Given the description of an element on the screen output the (x, y) to click on. 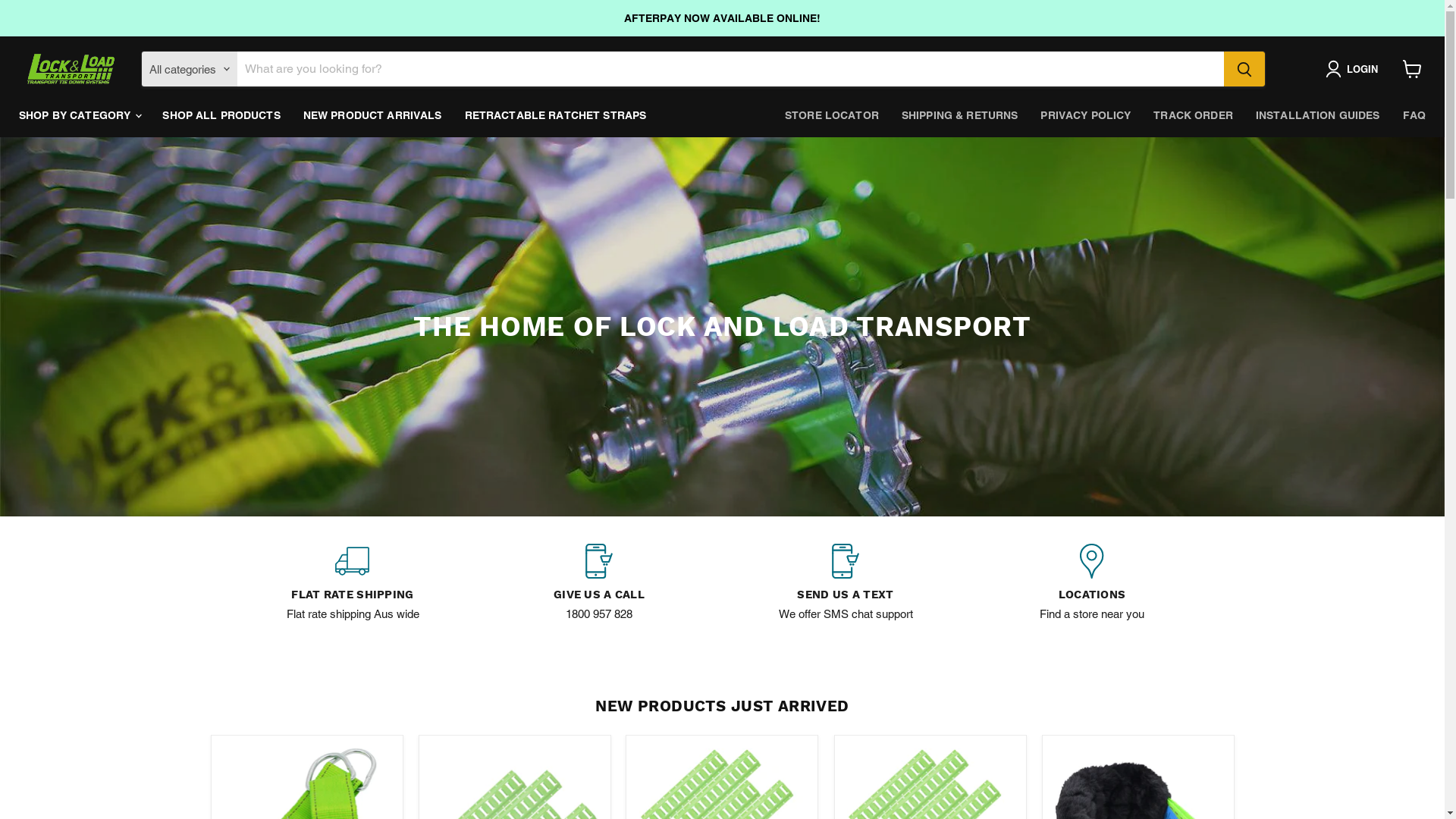
NEW PRODUCT ARRIVALS Element type: text (372, 115)
SHOP ALL PRODUCTS Element type: text (220, 115)
FAQ Element type: text (1414, 115)
SHIPPING & RETURNS Element type: text (959, 115)
LOGIN Element type: text (1354, 68)
PRIVACY POLICY Element type: text (1085, 115)
TRACK ORDER Element type: text (1193, 115)
RETRACTABLE RATCHET STRAPS Element type: text (555, 115)
INSTALLATION GUIDES Element type: text (1317, 115)
View cart Element type: text (1412, 68)
STORE LOCATOR Element type: text (831, 115)
